Given the description of an element on the screen output the (x, y) to click on. 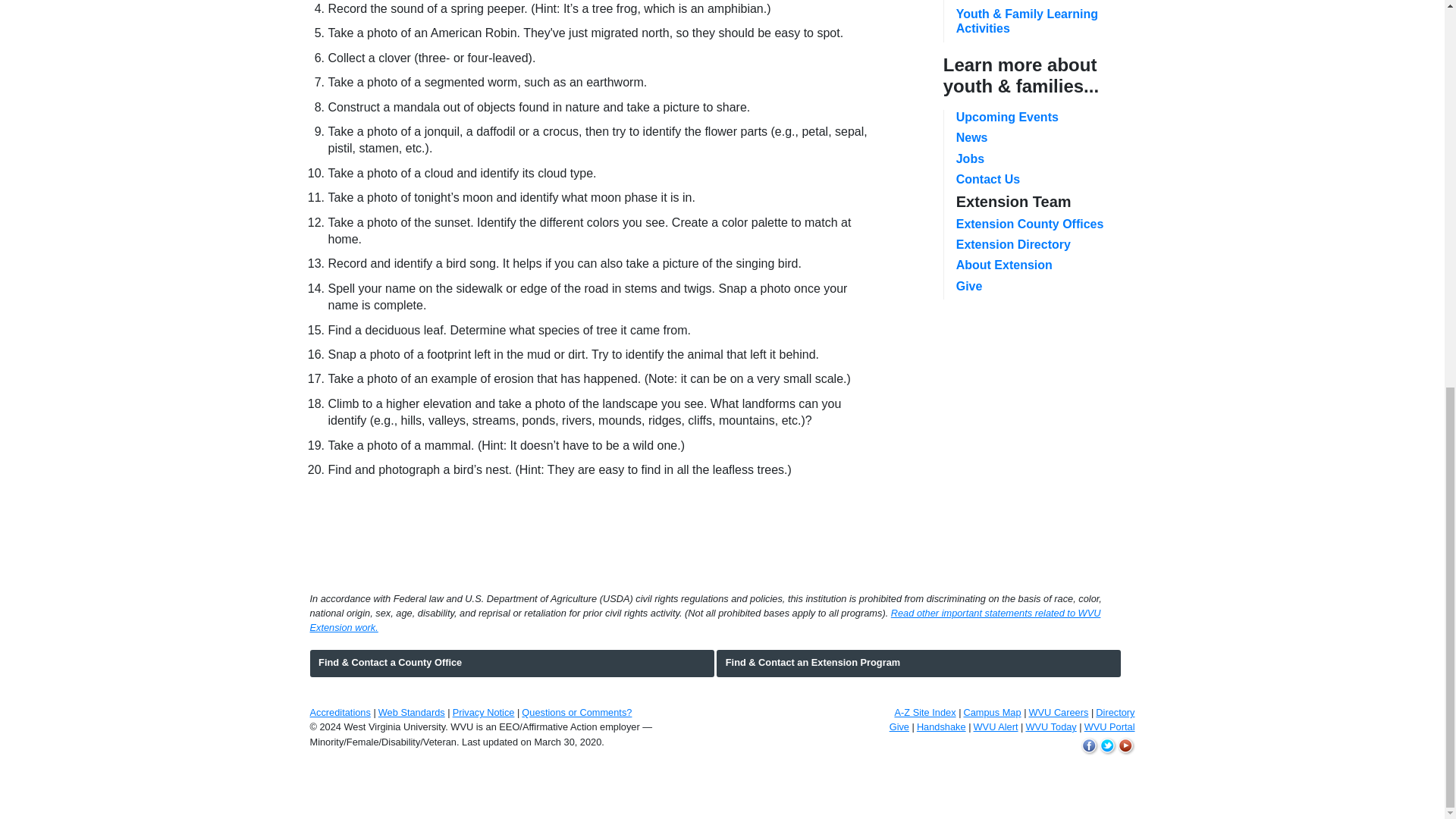
Extension Offices (1029, 223)
News (972, 137)
Employment Opportunties (970, 158)
Extension Directory (1013, 244)
About Extension (1004, 264)
